Given the description of an element on the screen output the (x, y) to click on. 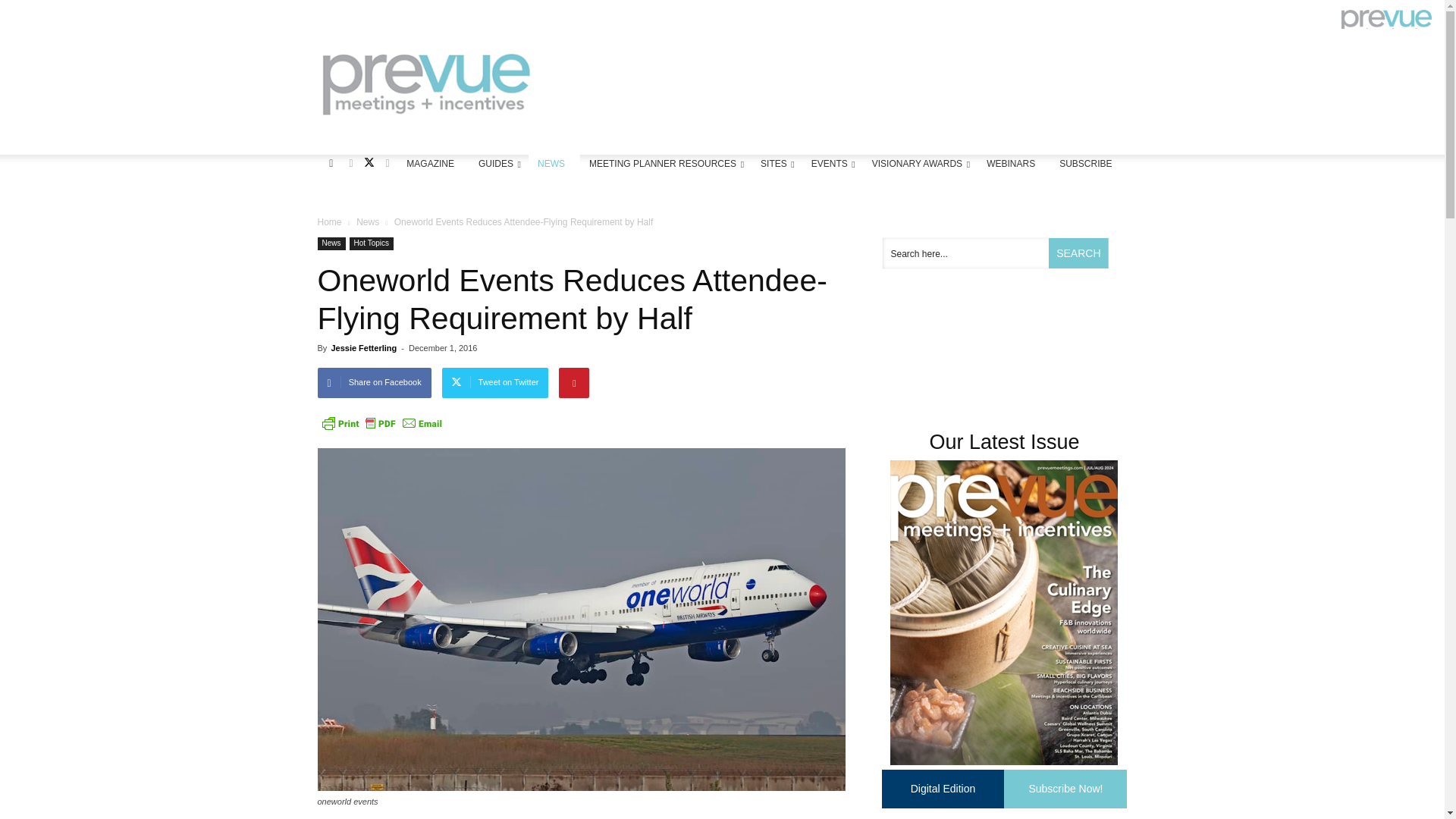
View all posts in News (367, 222)
